Given the description of an element on the screen output the (x, y) to click on. 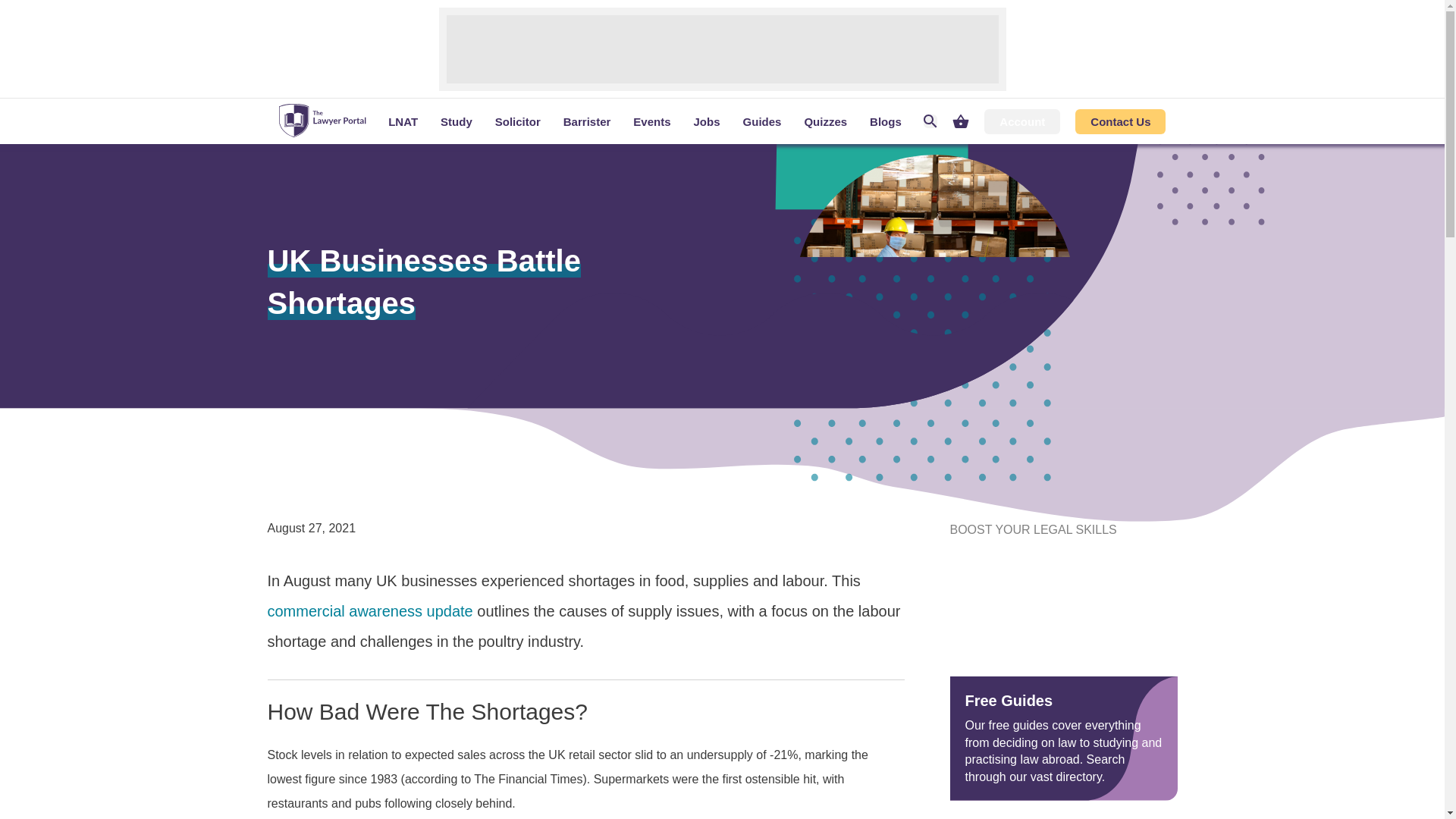
Solicitor (517, 121)
LNAT (403, 121)
Study (456, 121)
